Given the description of an element on the screen output the (x, y) to click on. 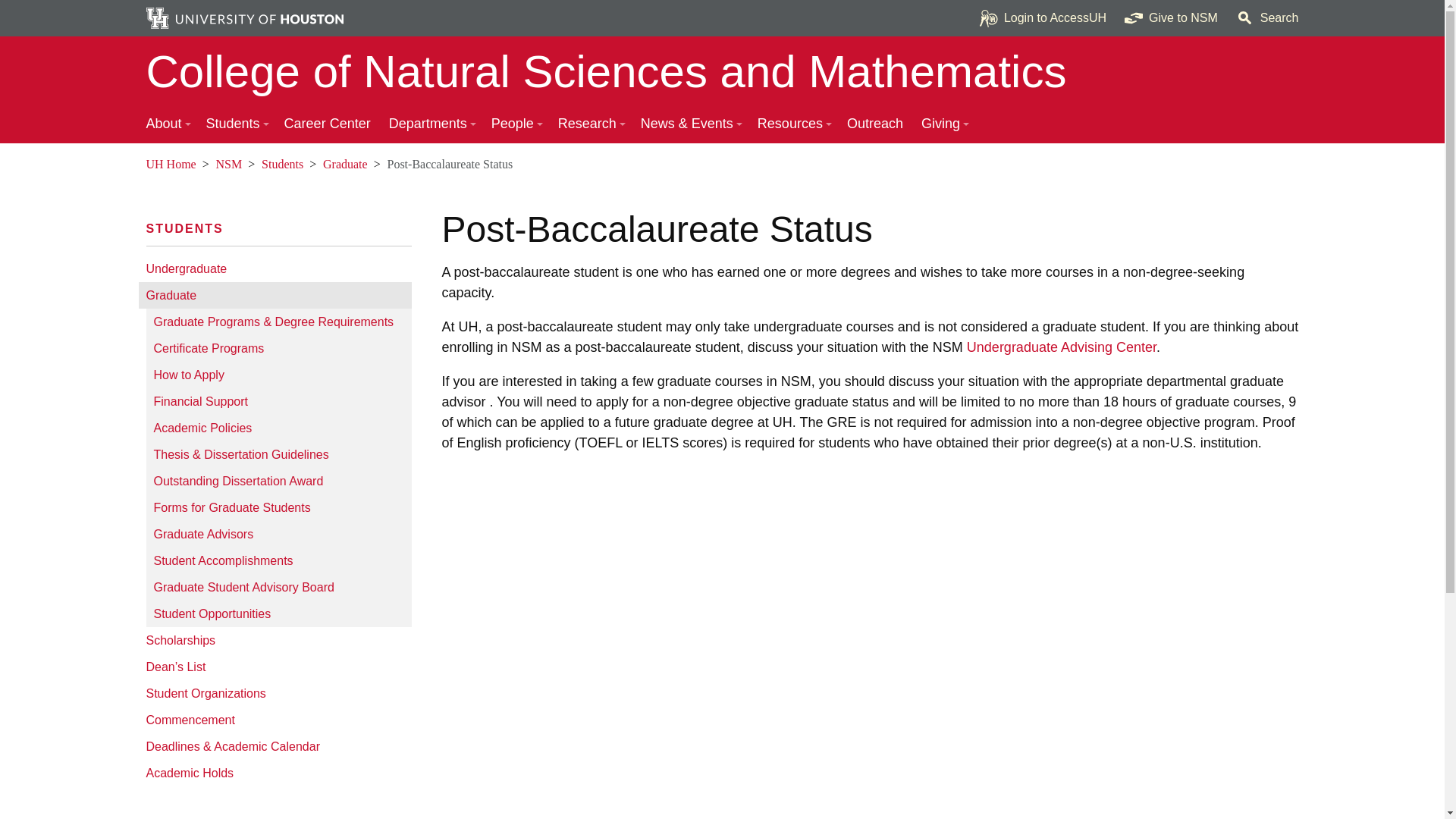
Students (183, 228)
Certificate Programs (277, 347)
About (166, 123)
College of Natural Sciences and Mathematics (721, 71)
Departments (430, 123)
Graduate Student Advisory Board (277, 587)
Give to NSM (1171, 18)
University of Houston (154, 164)
Student Organizations (274, 693)
Search (1267, 18)
